Given the description of an element on the screen output the (x, y) to click on. 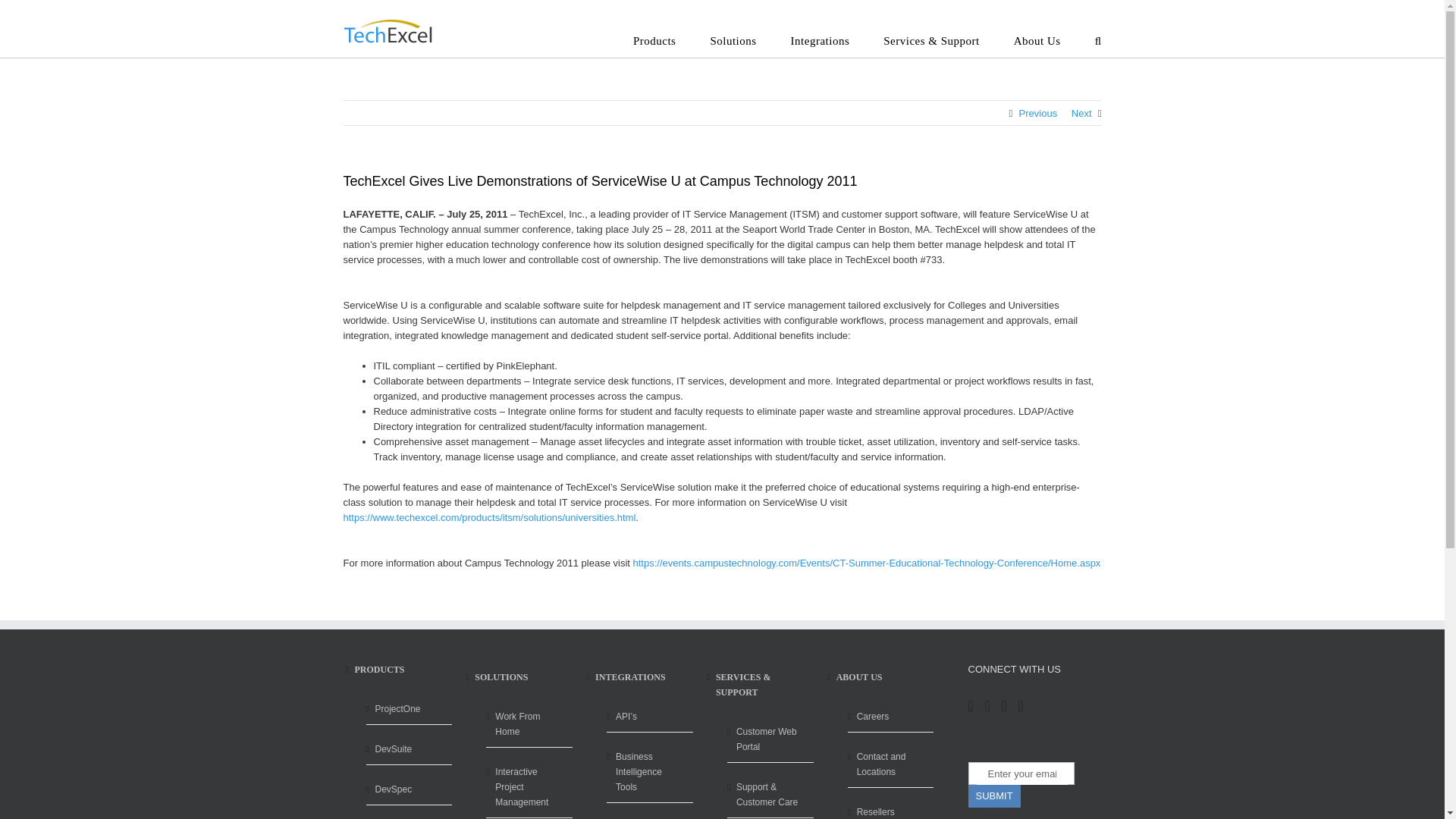
Products (655, 43)
About Us (1037, 43)
Solutions (732, 43)
Integrations (820, 43)
